Given the description of an element on the screen output the (x, y) to click on. 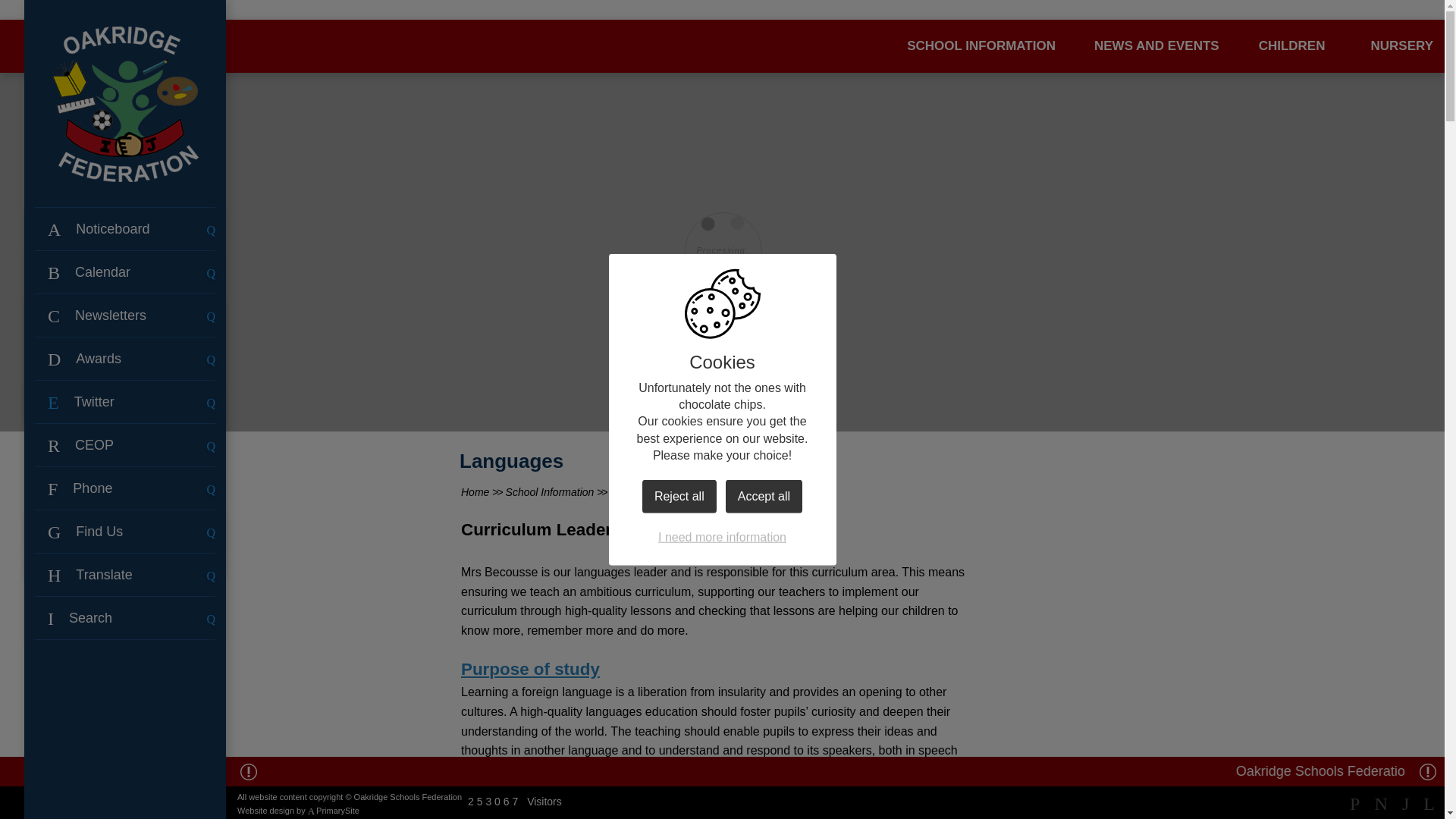
Home Page (124, 103)
OakridgeFed's avatar (94, 402)
View tweet on twitter (119, 410)
SCHOOL INFORMATION (981, 45)
